Given the description of an element on the screen output the (x, y) to click on. 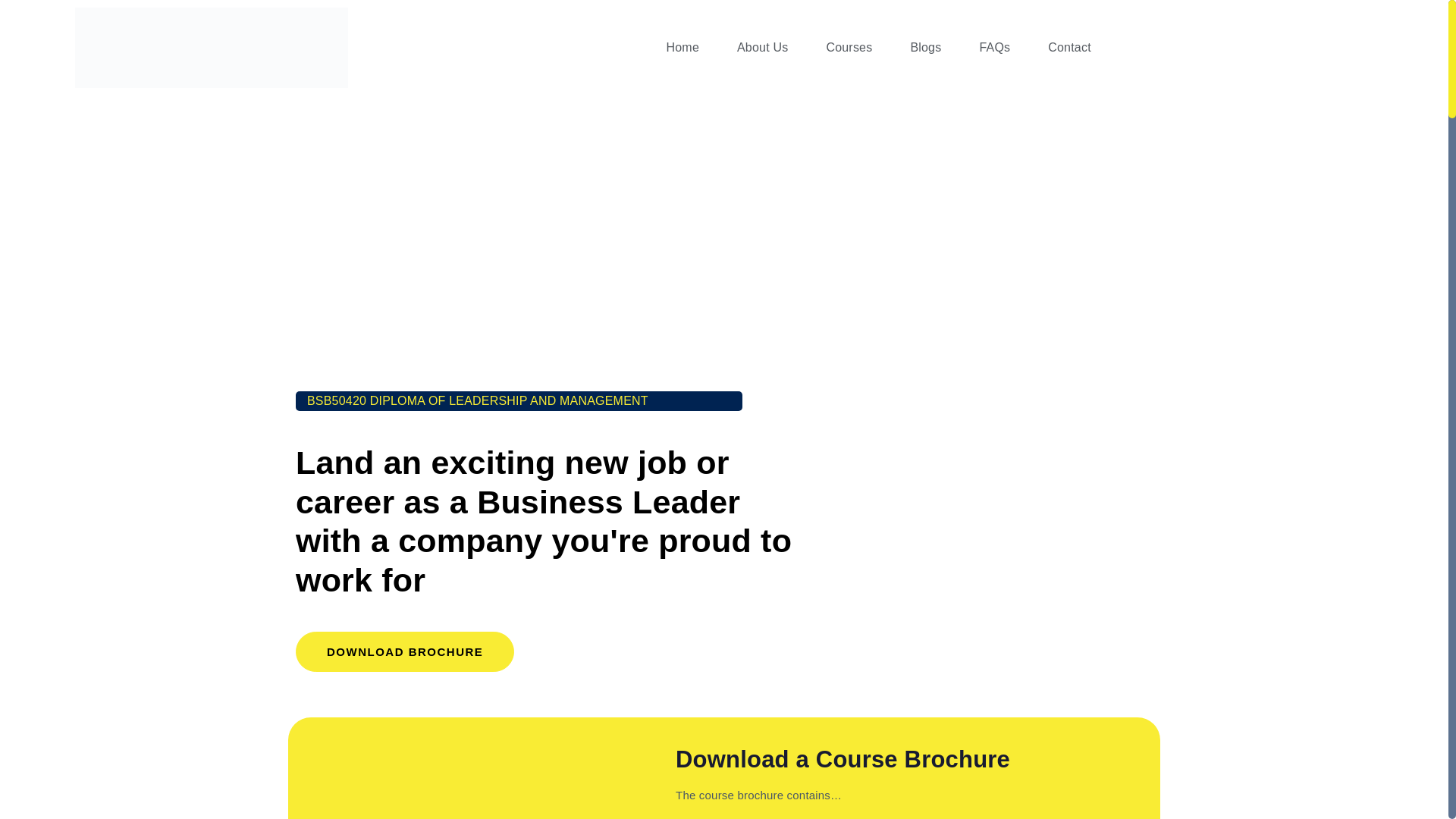
FAQs (994, 47)
About Us (761, 47)
Blogs (925, 47)
Contact (1069, 47)
DOWNLOAD BROCHURE (404, 651)
Home (682, 47)
Courses (848, 47)
